Given the description of an element on the screen output the (x, y) to click on. 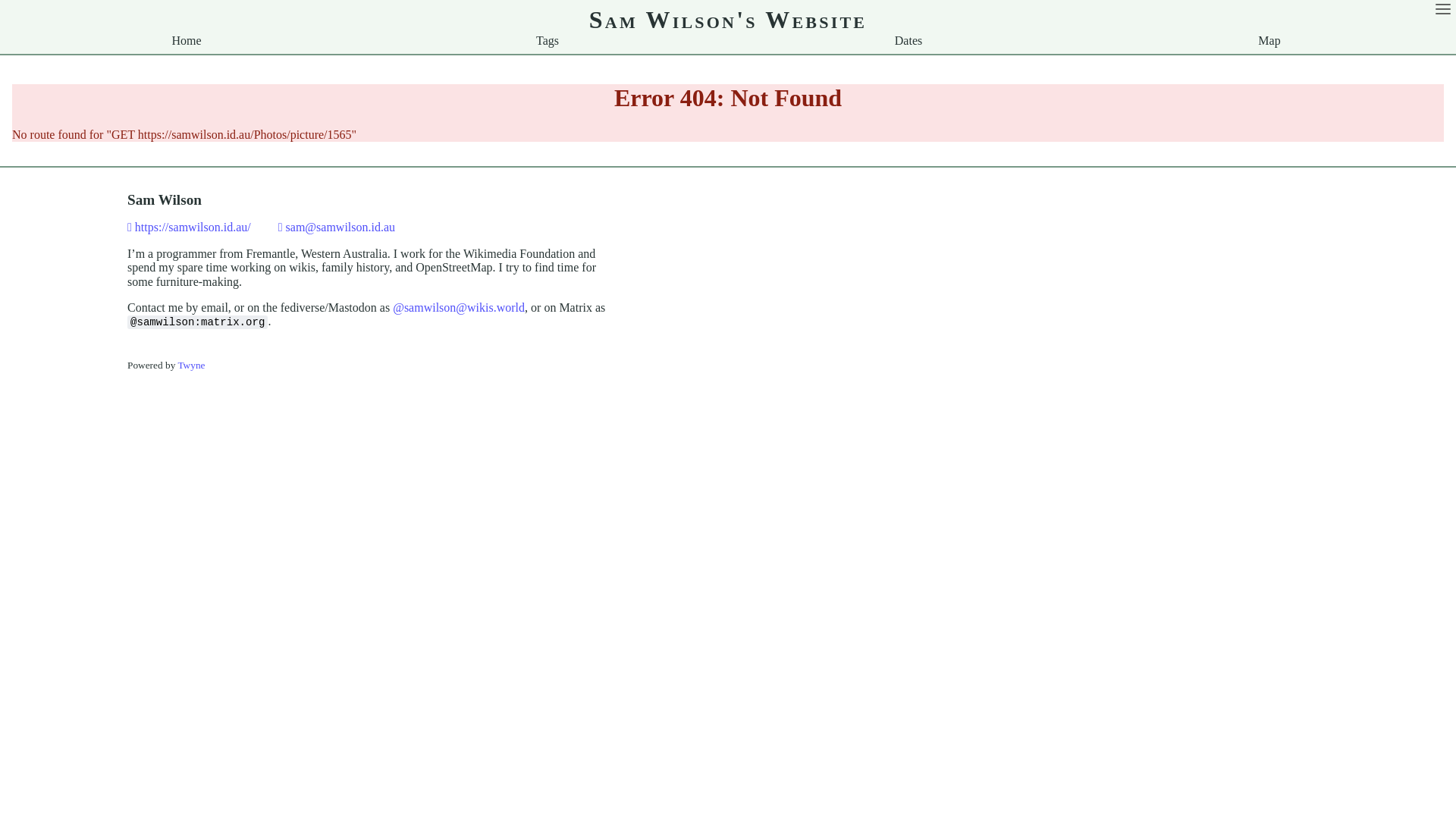
Tags Element type: text (547, 40)
Home Element type: text (185, 40)
Twyne Element type: text (190, 364)
Map Element type: text (1269, 40)
@samwilson@wikis.world Element type: text (458, 307)
Dates Element type: text (908, 40)
Sam Wilson's Website Element type: text (727, 19)
